Given the description of an element on the screen output the (x, y) to click on. 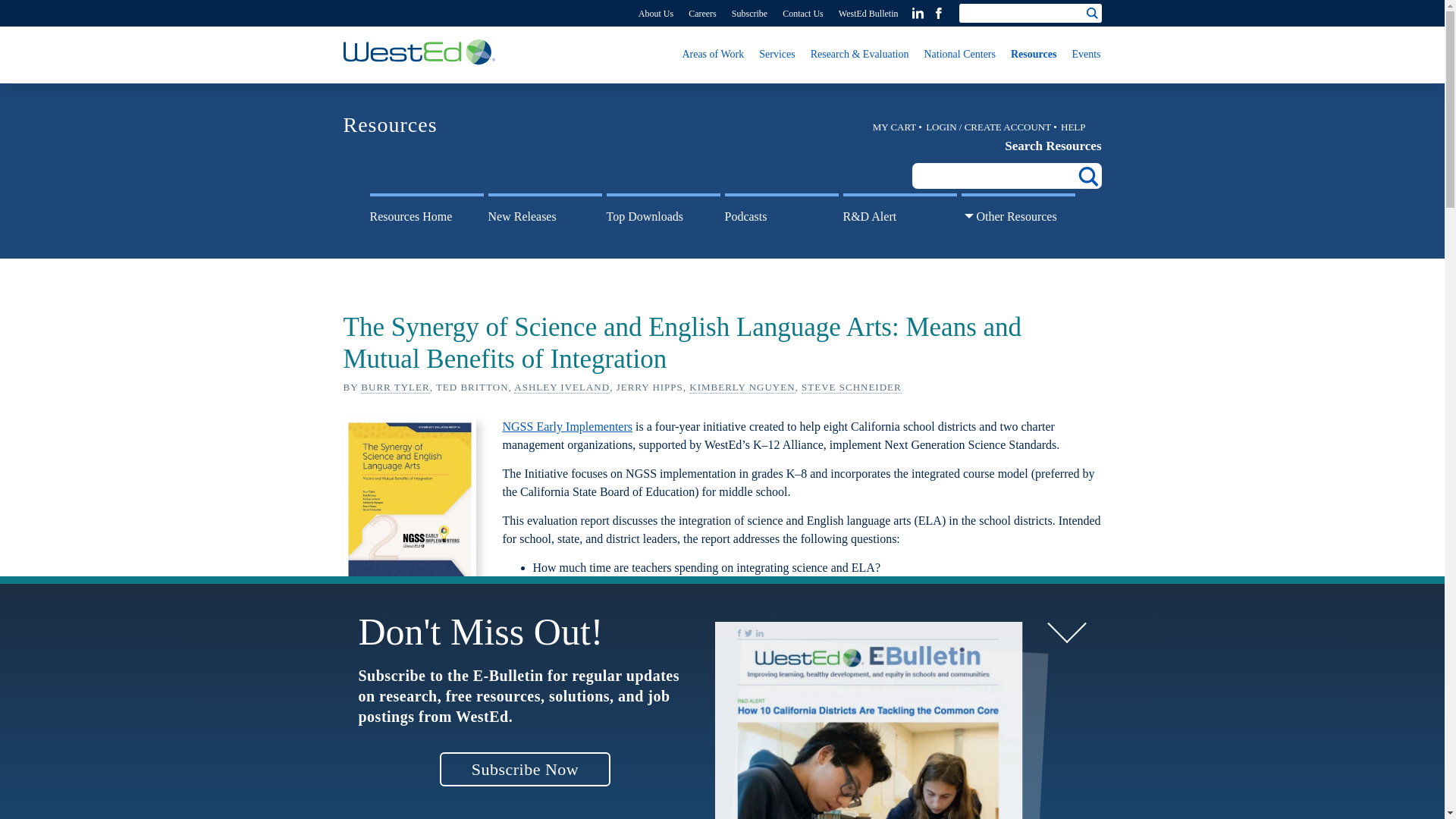
Areas of Work (712, 61)
Go (1091, 13)
WestEd Bulletin (868, 13)
Subscribe Now (525, 809)
Home (418, 53)
My Cart (898, 126)
Contact Us (802, 13)
Subscribe (749, 13)
Careers (702, 13)
LinkedIn (917, 12)
About Us (655, 13)
Go (1091, 13)
Go (1087, 176)
close (1066, 668)
Go (1091, 13)
